Given the description of an element on the screen output the (x, y) to click on. 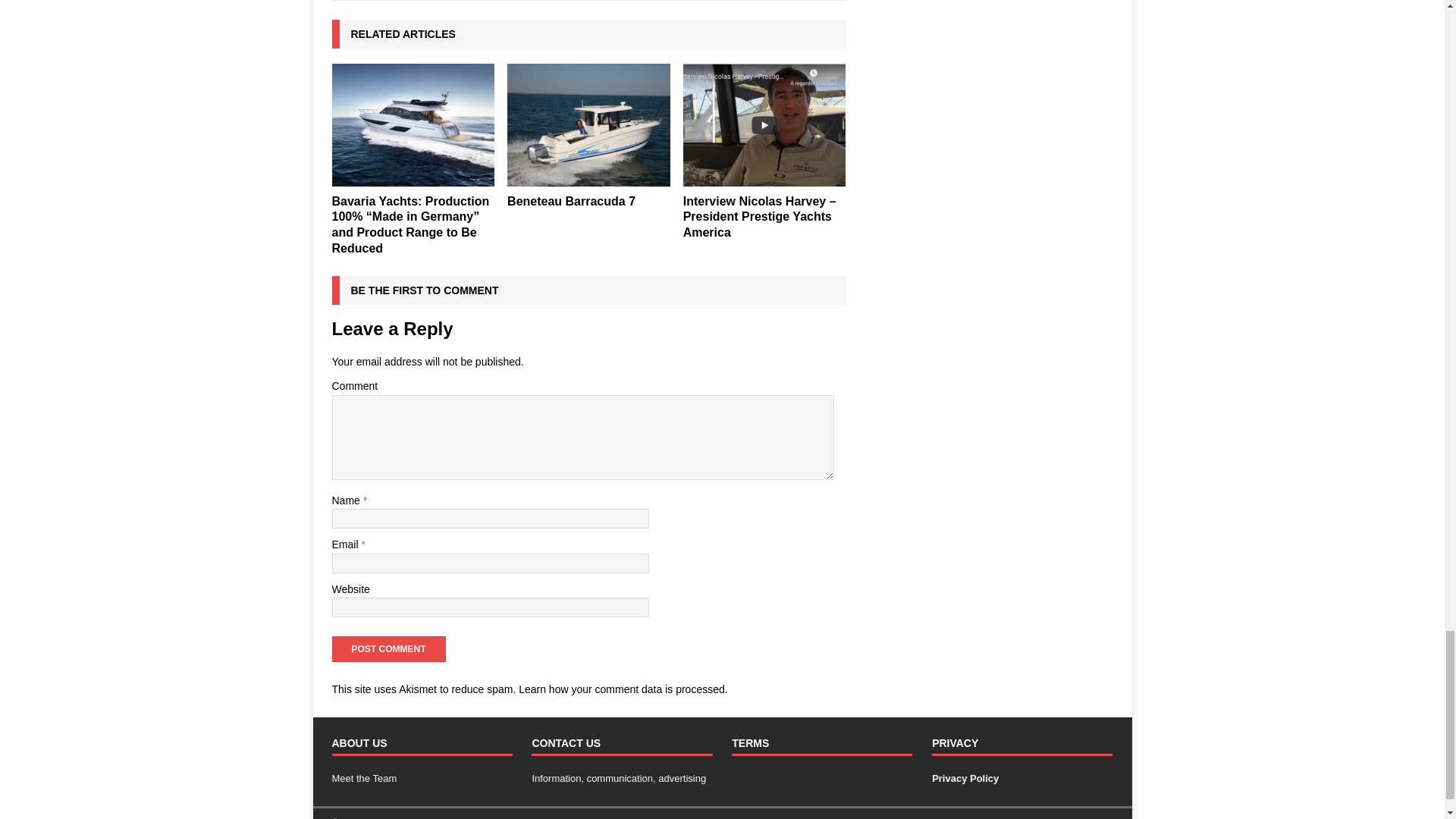
Post Comment (388, 648)
